Given the description of an element on the screen output the (x, y) to click on. 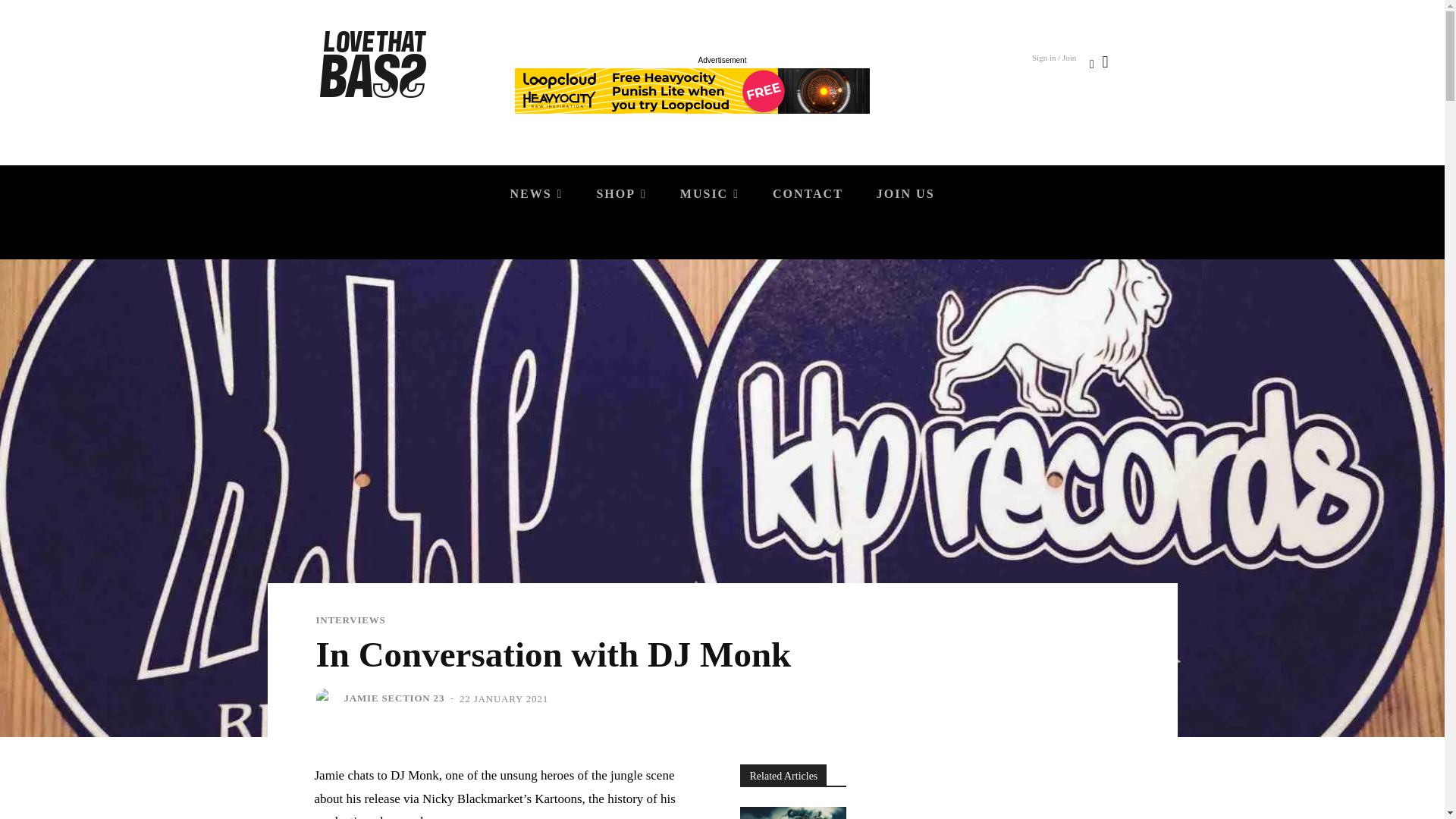
NEWS (536, 193)
SHOP (620, 193)
Jamie Section 23 (327, 698)
